Given the description of an element on the screen output the (x, y) to click on. 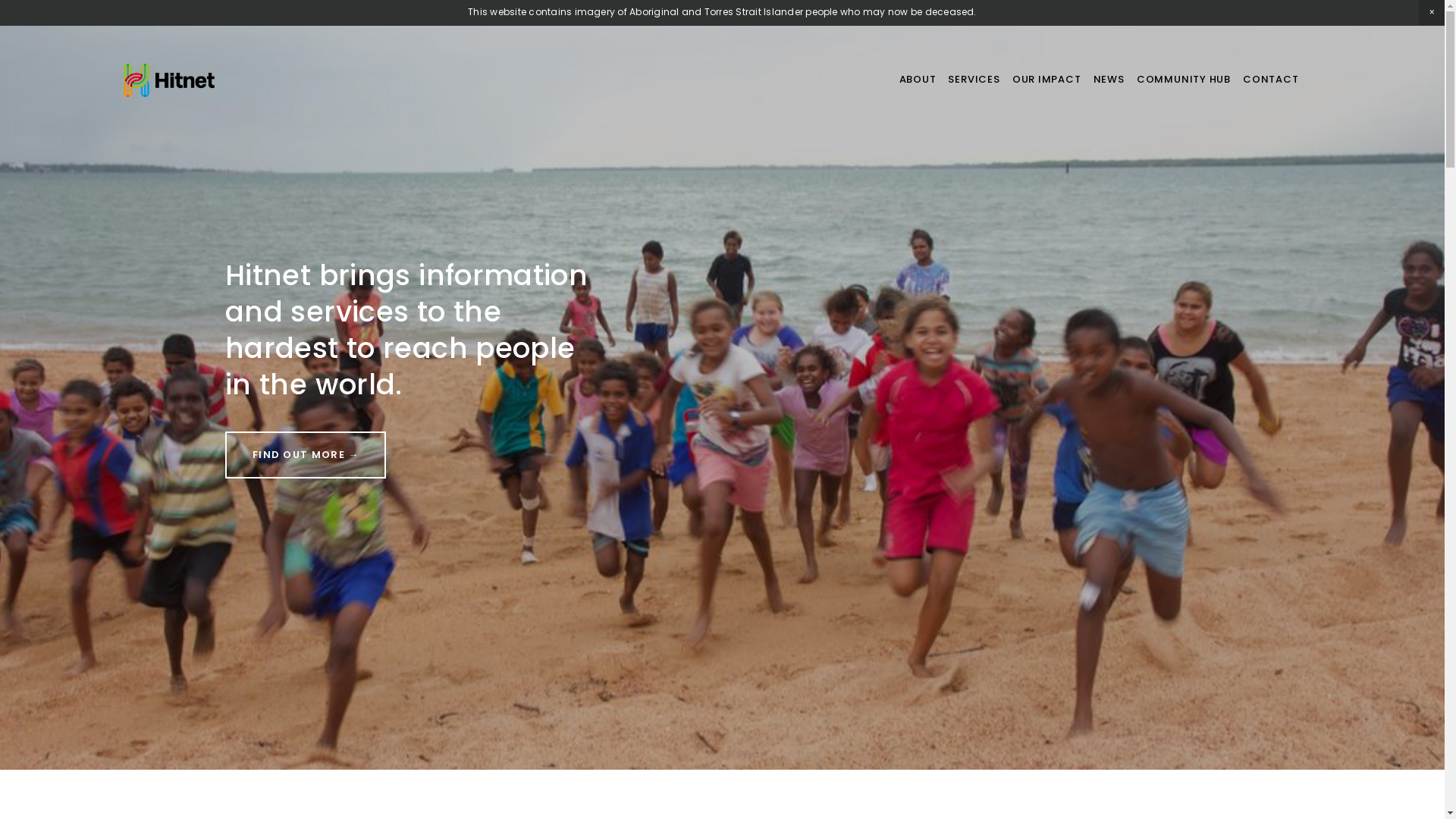
SERVICES Element type: text (973, 80)
CONTACT Element type: text (1270, 80)
ABOUT Element type: text (917, 80)
OUR IMPACT Element type: text (1046, 80)
NEWS Element type: text (1108, 80)
COMMUNITY HUB Element type: text (1183, 80)
